Given the description of an element on the screen output the (x, y) to click on. 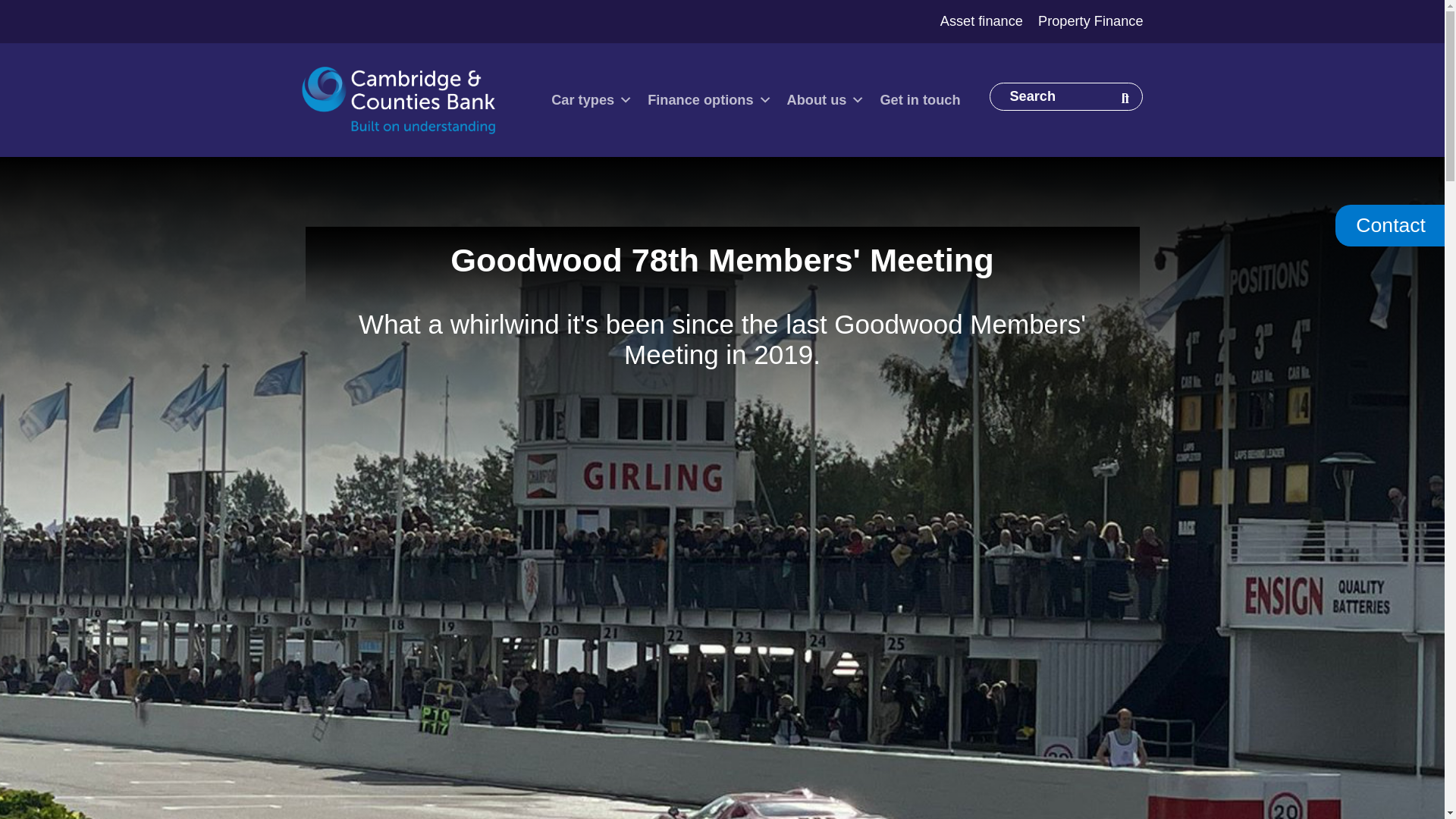
Property Finance (1090, 20)
About us (825, 100)
Car types (591, 100)
Get in touch (920, 100)
Finance options (709, 100)
Asset finance (981, 20)
